Given the description of an element on the screen output the (x, y) to click on. 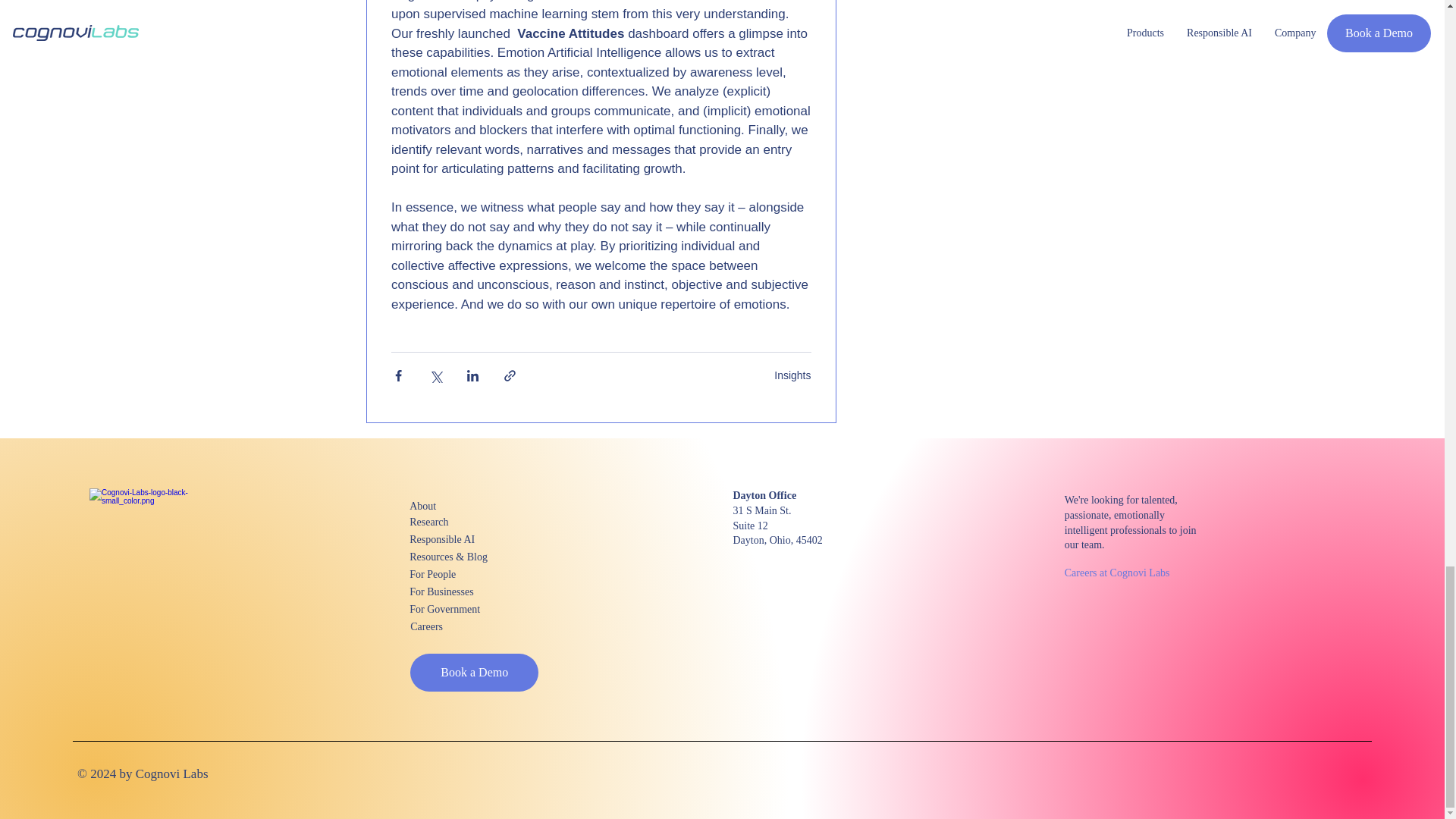
For Businesses (463, 591)
Book a Demo (474, 672)
Insights (792, 375)
About (463, 506)
Careers (464, 626)
Careers at Cognovi Labs (1118, 572)
For Government (463, 609)
Research (463, 521)
Responsible AI (463, 538)
For People (463, 574)
